Given the description of an element on the screen output the (x, y) to click on. 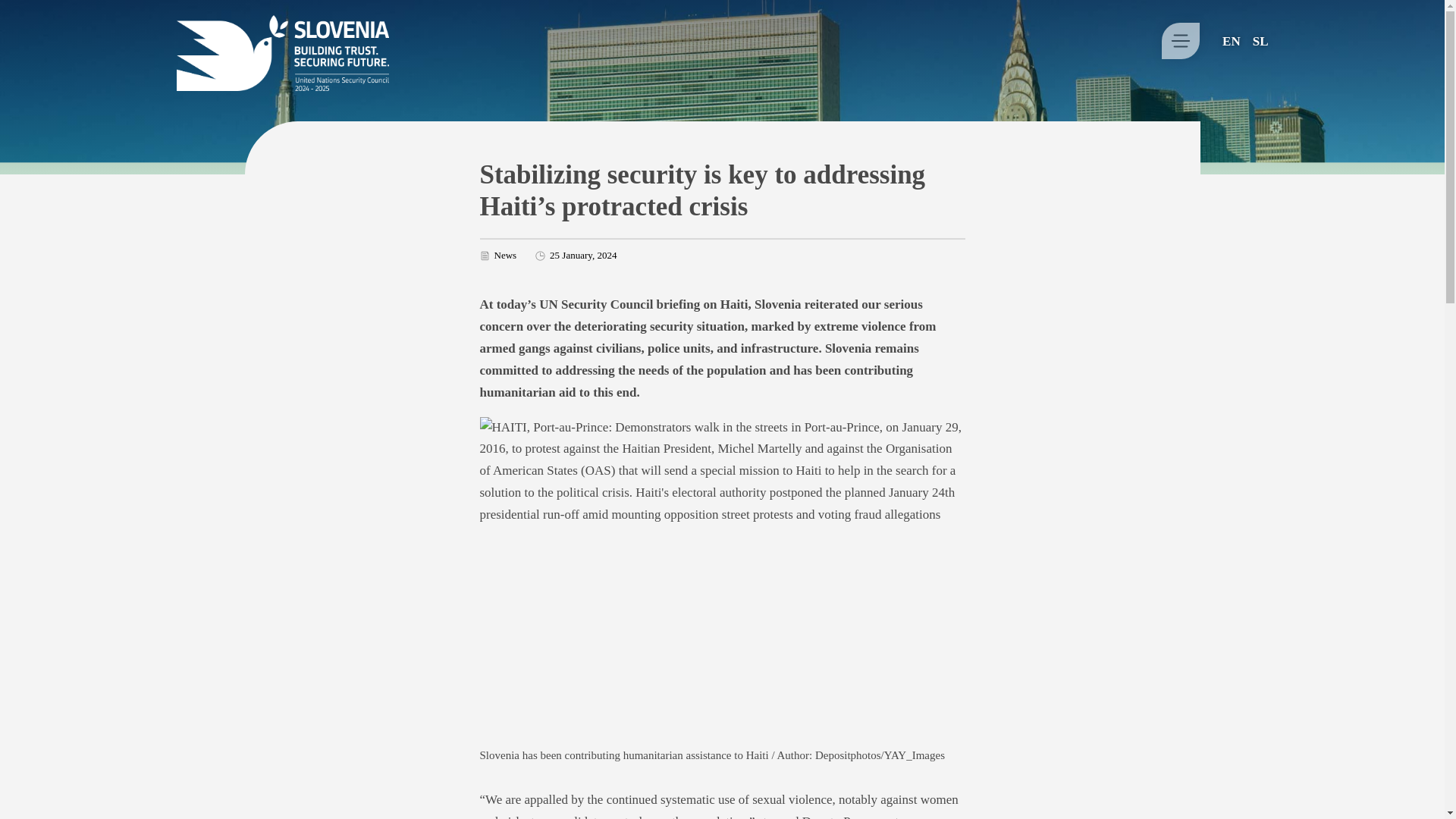
EN (1231, 40)
SL (1260, 40)
News (505, 255)
